Given the description of an element on the screen output the (x, y) to click on. 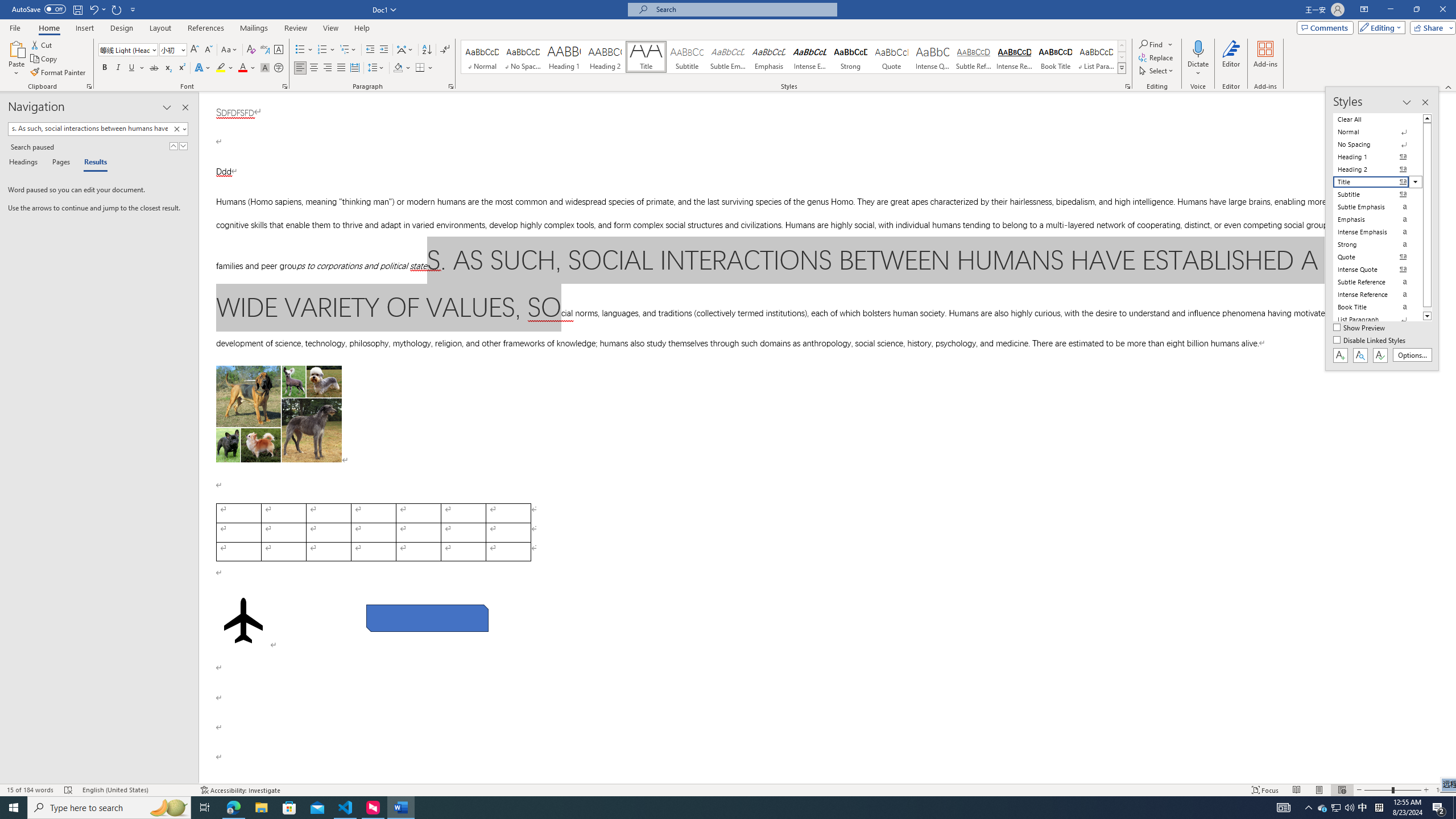
Subtitle (686, 56)
AutomationID: QuickStylesGallery (794, 56)
Heading 1 (564, 56)
Clear All (1377, 119)
